Given the description of an element on the screen output the (x, y) to click on. 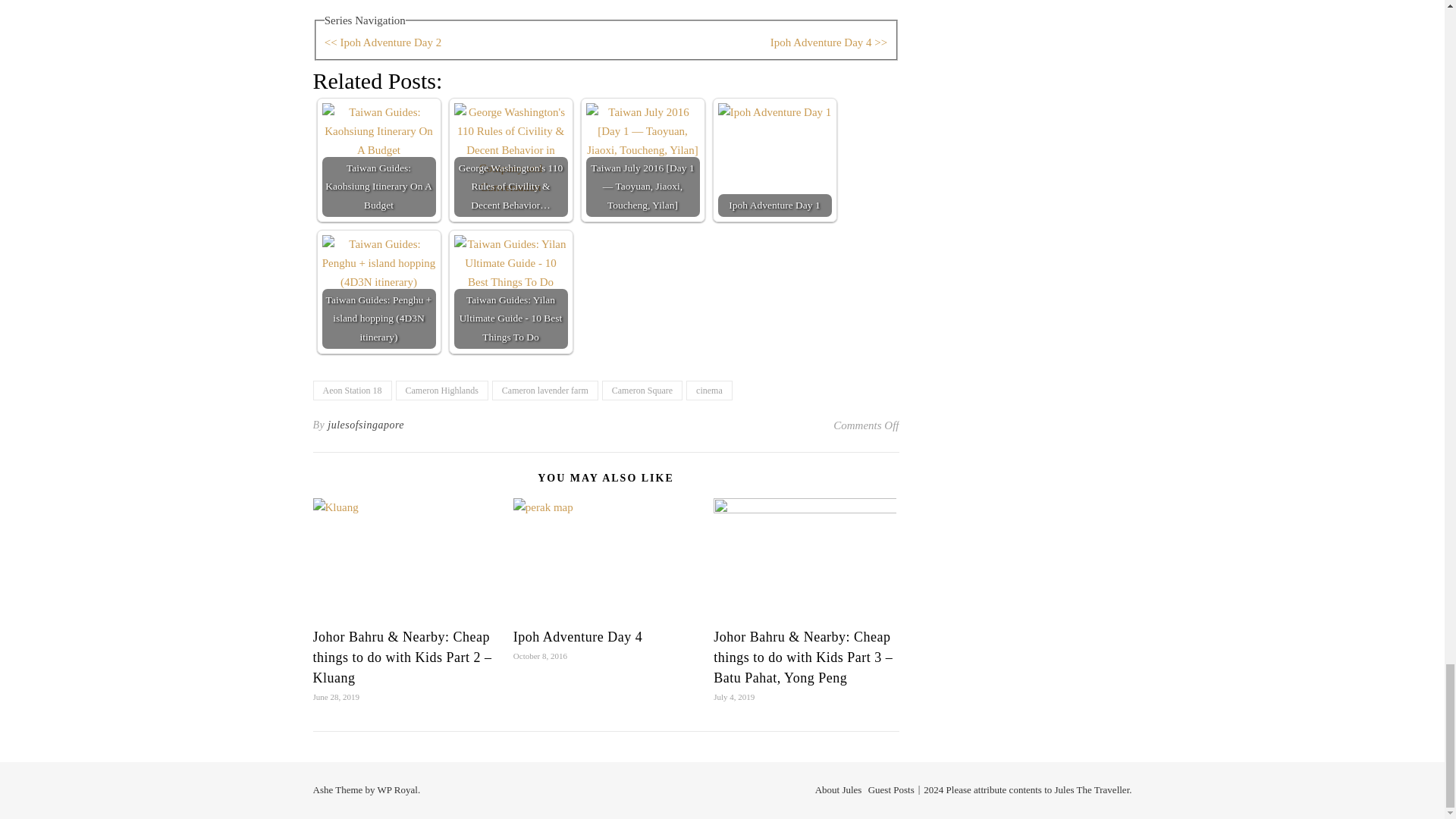
Posts by julesofsingapore (365, 425)
Taiwan Guides: Kaohsiung Itinerary On A Budget (378, 160)
Ipoh Adventure Day 1 (774, 160)
Taiwan Guides: Yilan Ultimate Guide - 10 Best Things To Do (509, 291)
